Given the description of an element on the screen output the (x, y) to click on. 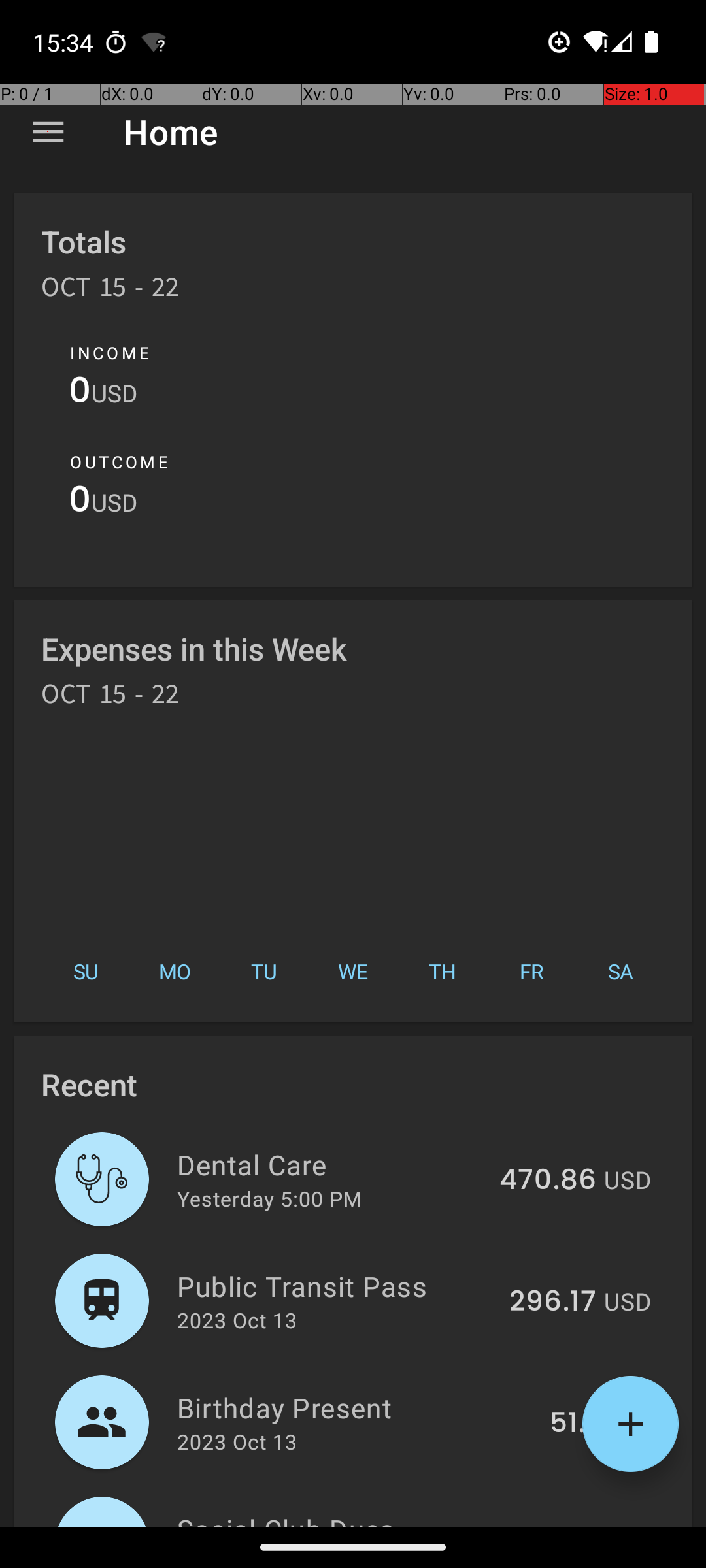
Yesterday 5:00 PM Element type: android.widget.TextView (269, 1198)
470.86 Element type: android.widget.TextView (547, 1180)
Public Transit Pass Element type: android.widget.TextView (335, 1285)
296.17 Element type: android.widget.TextView (552, 1301)
51.1 Element type: android.widget.TextView (572, 1423)
Social Club Dues Element type: android.widget.TextView (330, 1518)
339.66 Element type: android.widget.TextView (547, 1524)
